Given the description of an element on the screen output the (x, y) to click on. 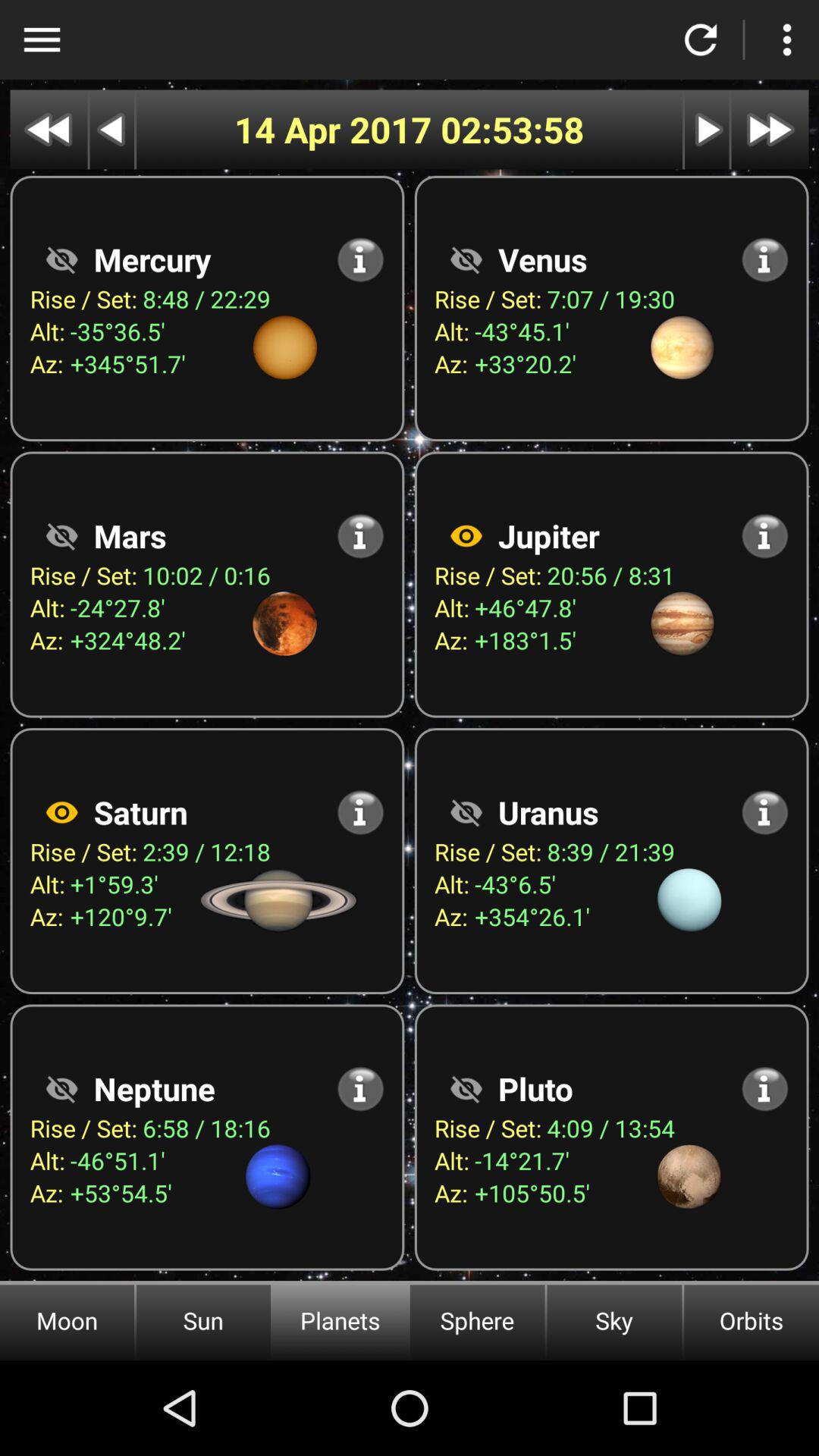
toggle neptune (61, 1088)
